Given the description of an element on the screen output the (x, y) to click on. 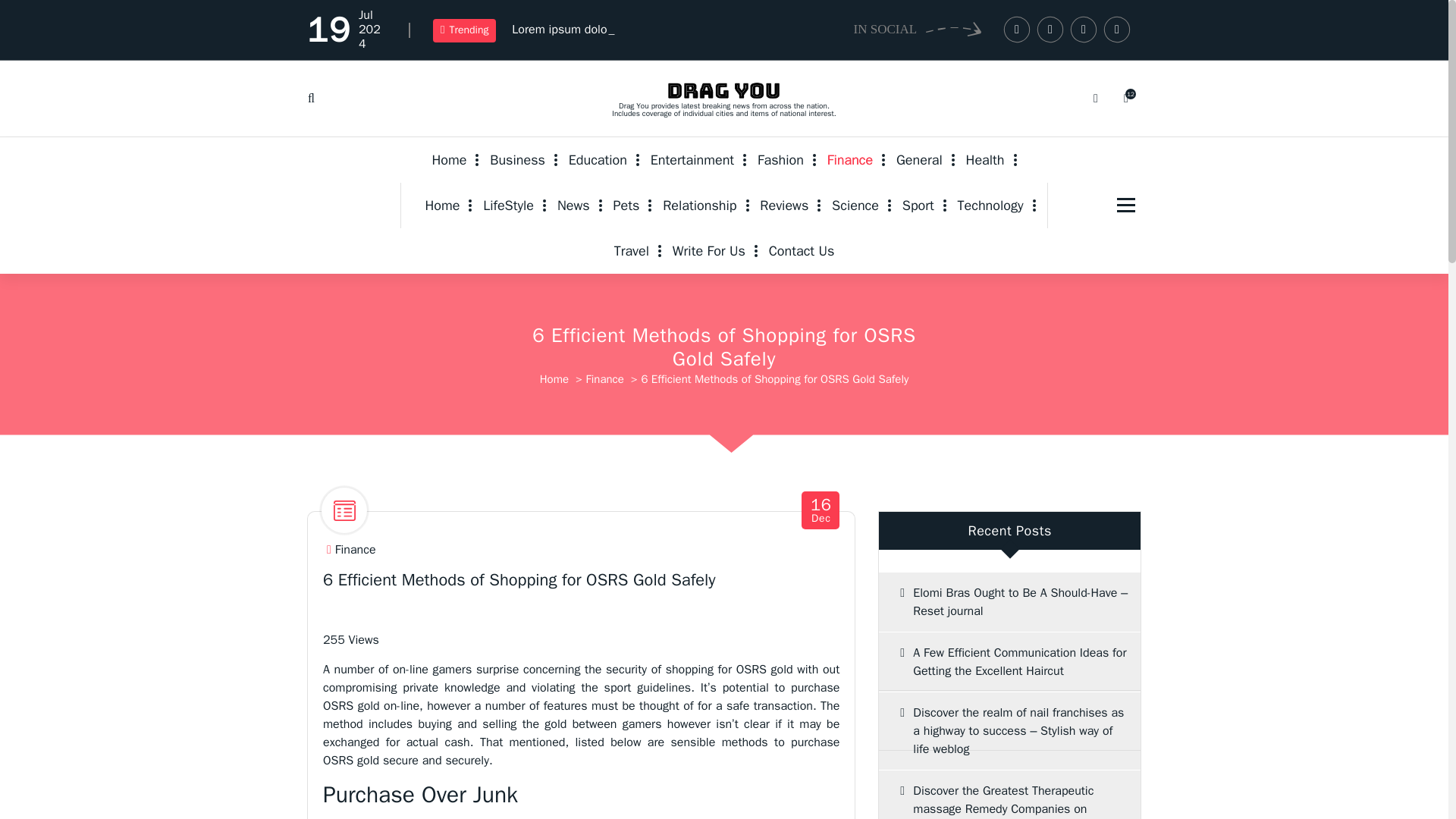
1218 (1125, 98)
